Given the description of an element on the screen output the (x, y) to click on. 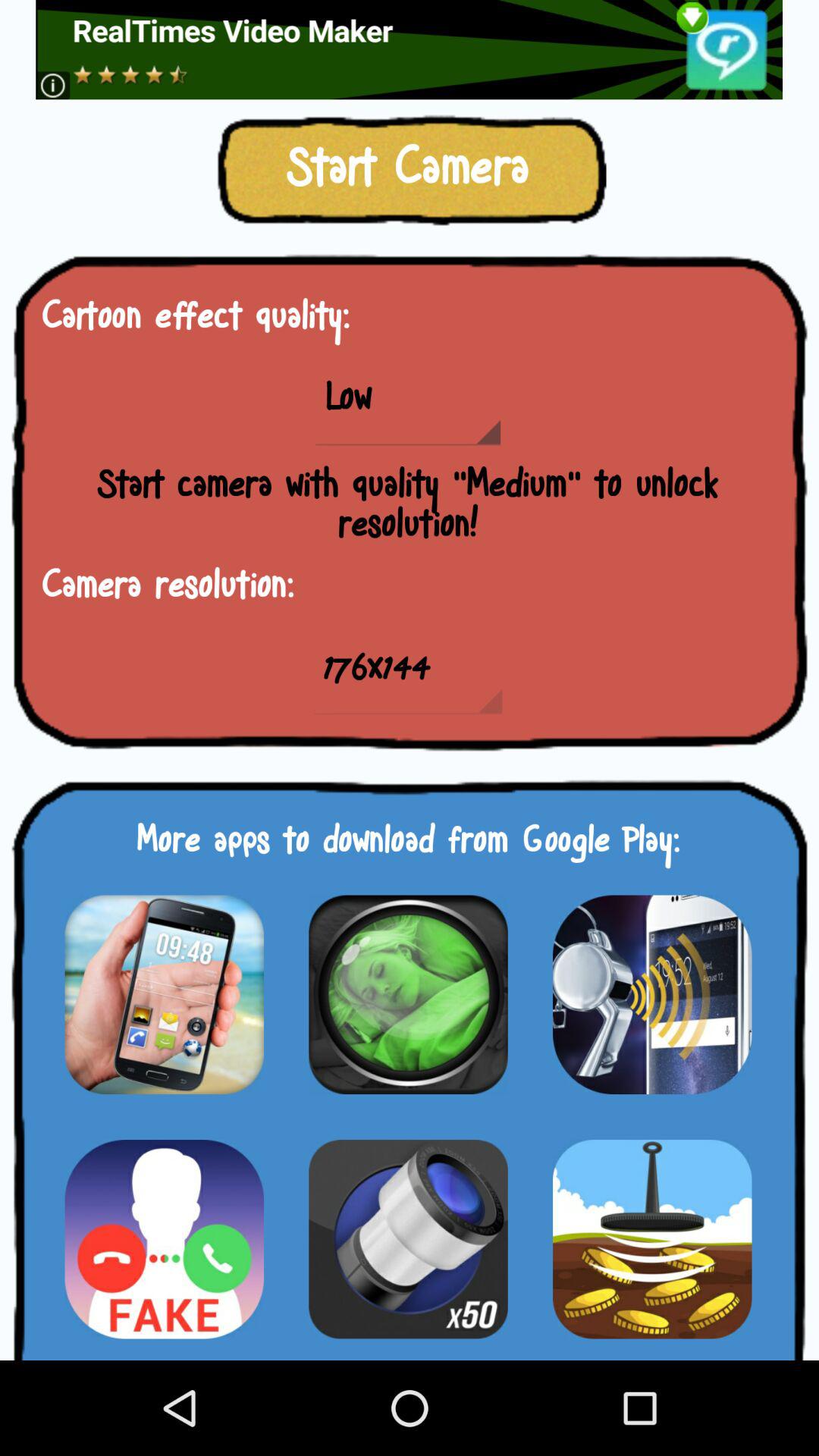
more apps (408, 994)
